Given the description of an element on the screen output the (x, y) to click on. 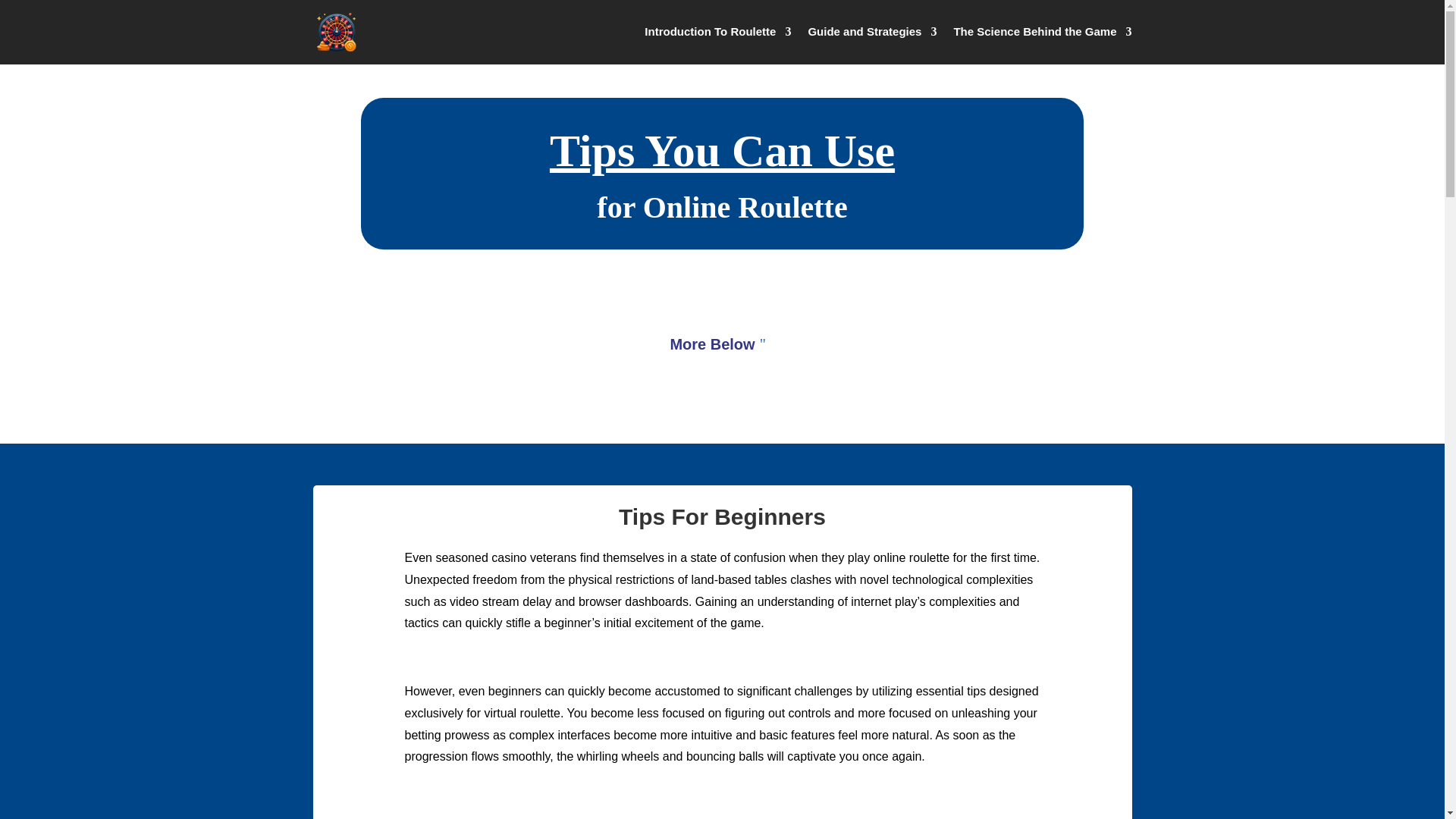
The Science Behind the Game (1042, 34)
Guide and Strategies (872, 34)
Introduction To Roulette (717, 34)
